Given the description of an element on the screen output the (x, y) to click on. 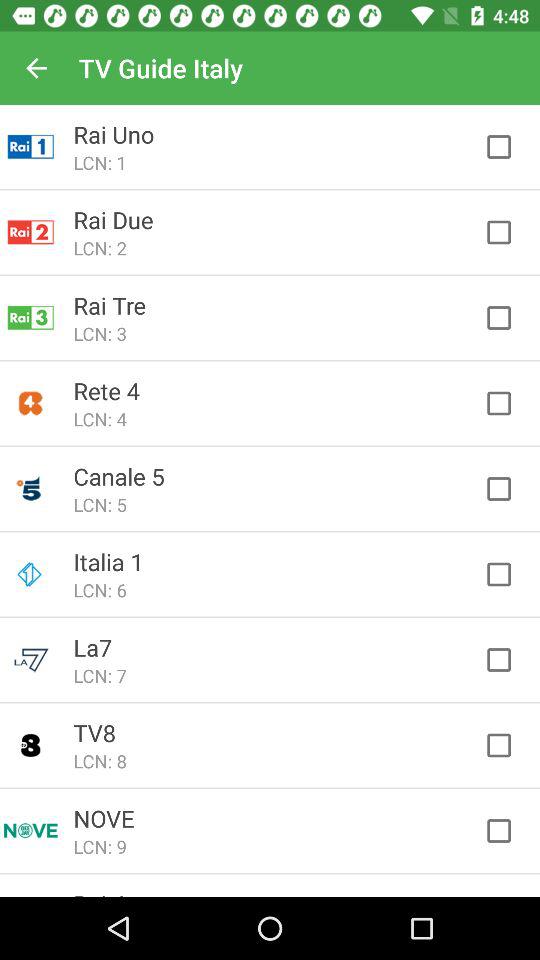
select the  bottom second column 8 (30, 745)
select the 2nd checkbox from the bottom right corner of the web page (508, 745)
select the canale 5 check box (508, 488)
select the bottom right checkbox (508, 830)
